Given the description of an element on the screen output the (x, y) to click on. 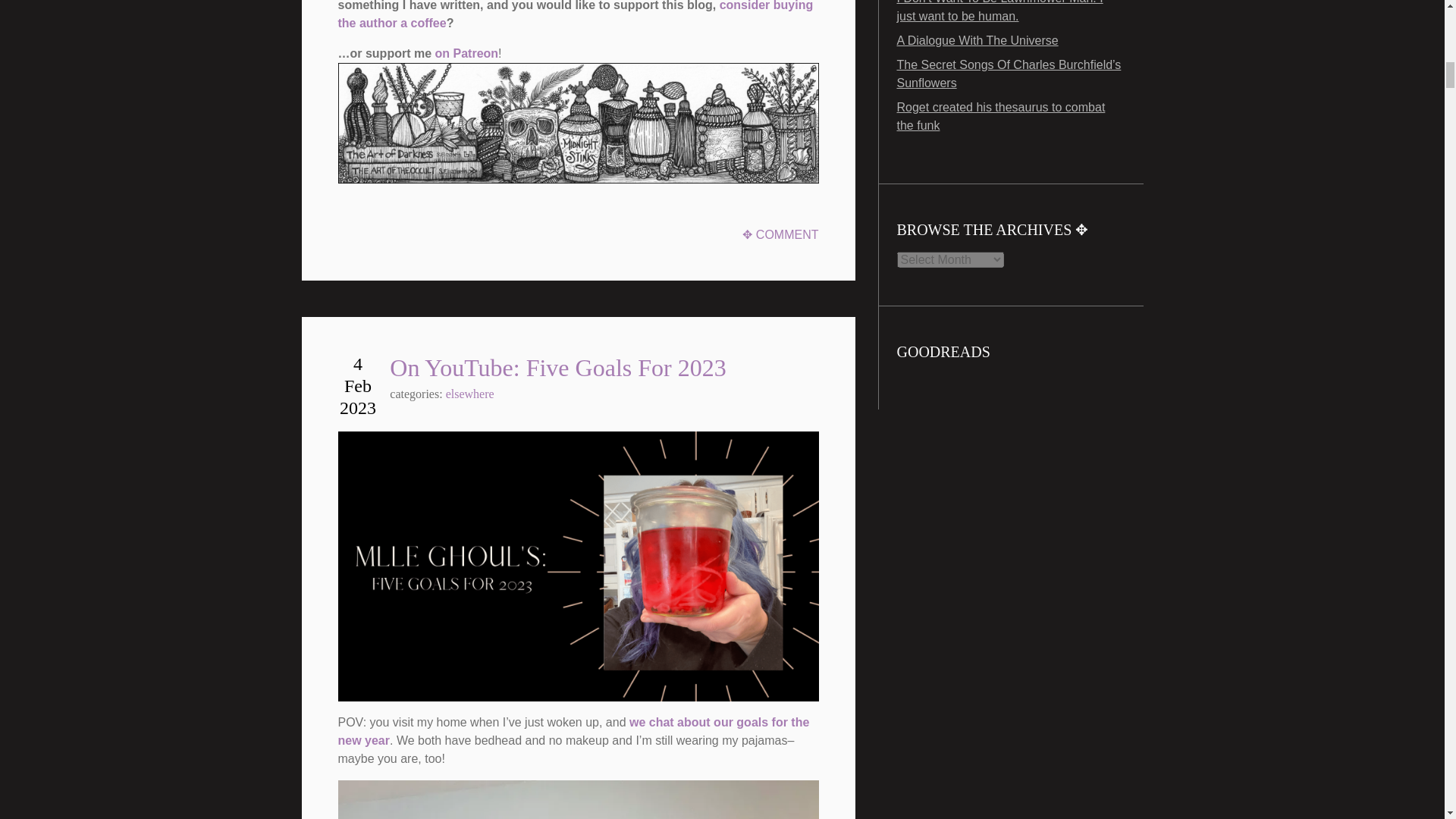
consider buying the author a coffee (575, 14)
on Patreon (467, 52)
